Given the description of an element on the screen output the (x, y) to click on. 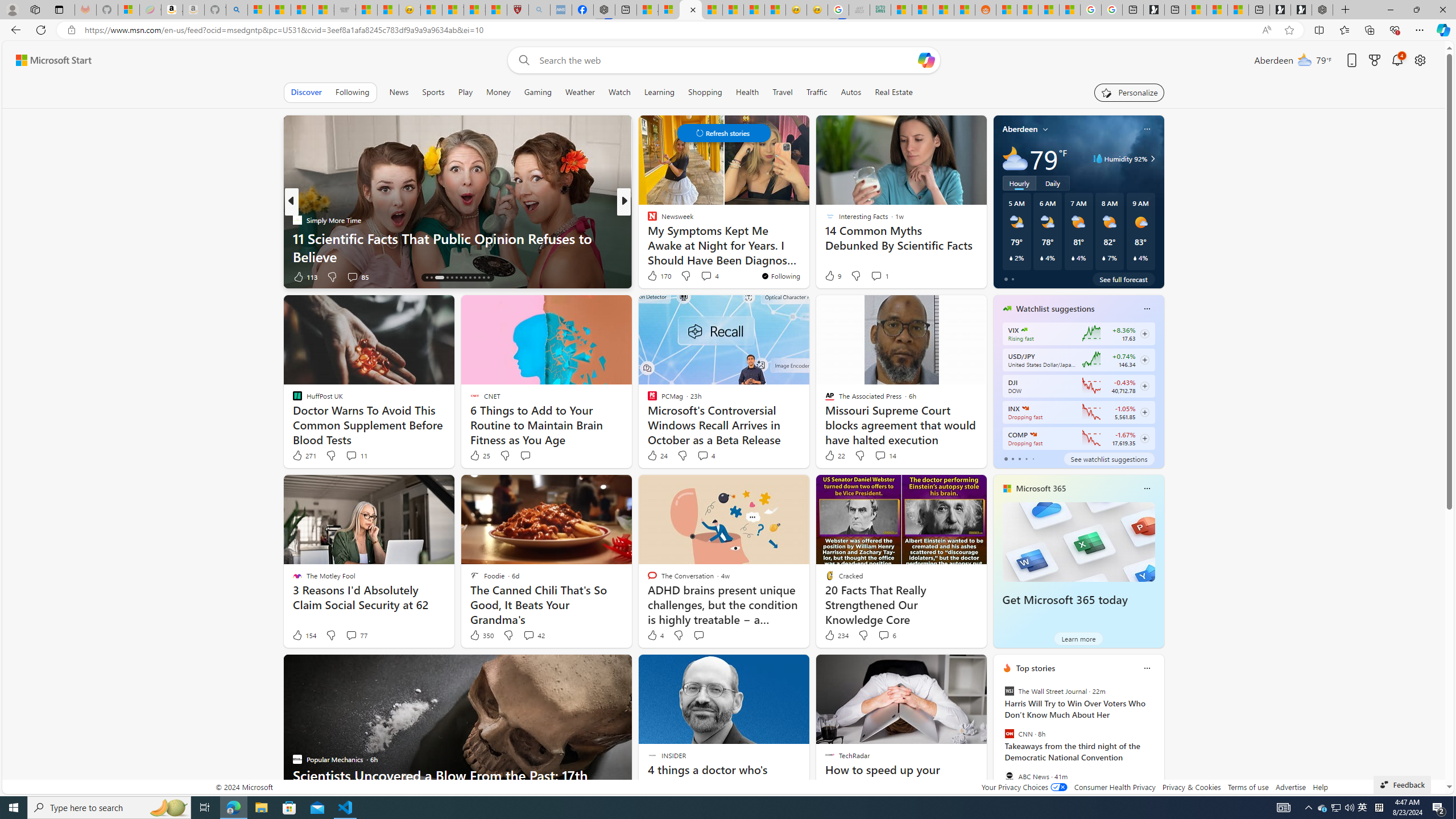
11 Scientific Facts That Public Opinion Refuses to Believe (457, 247)
AutomationID: tab-14 (426, 277)
previous (998, 741)
AutomationID: tab-16 (439, 277)
